Given the description of an element on the screen output the (x, y) to click on. 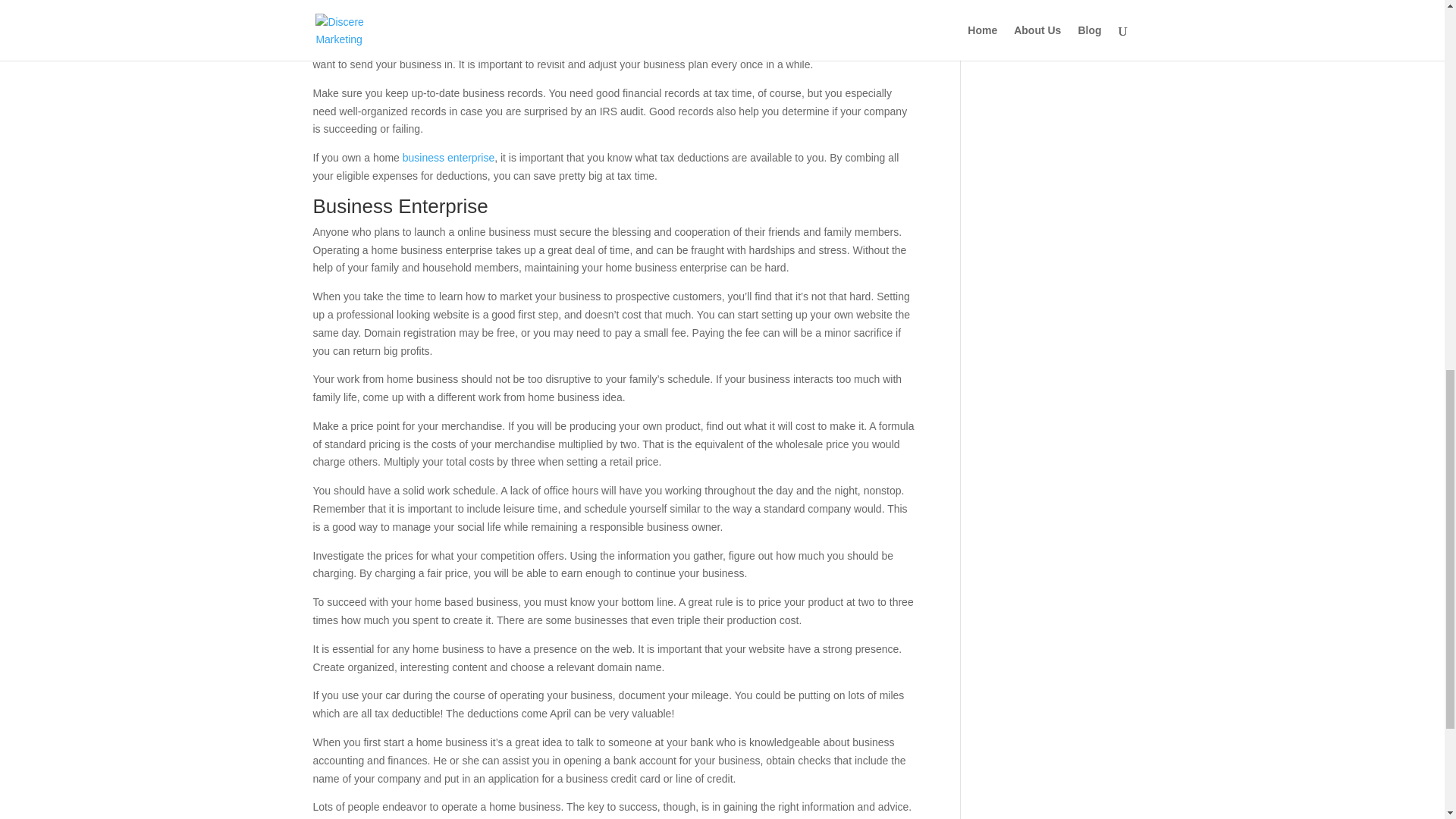
business enterprise (449, 157)
